Given the description of an element on the screen output the (x, y) to click on. 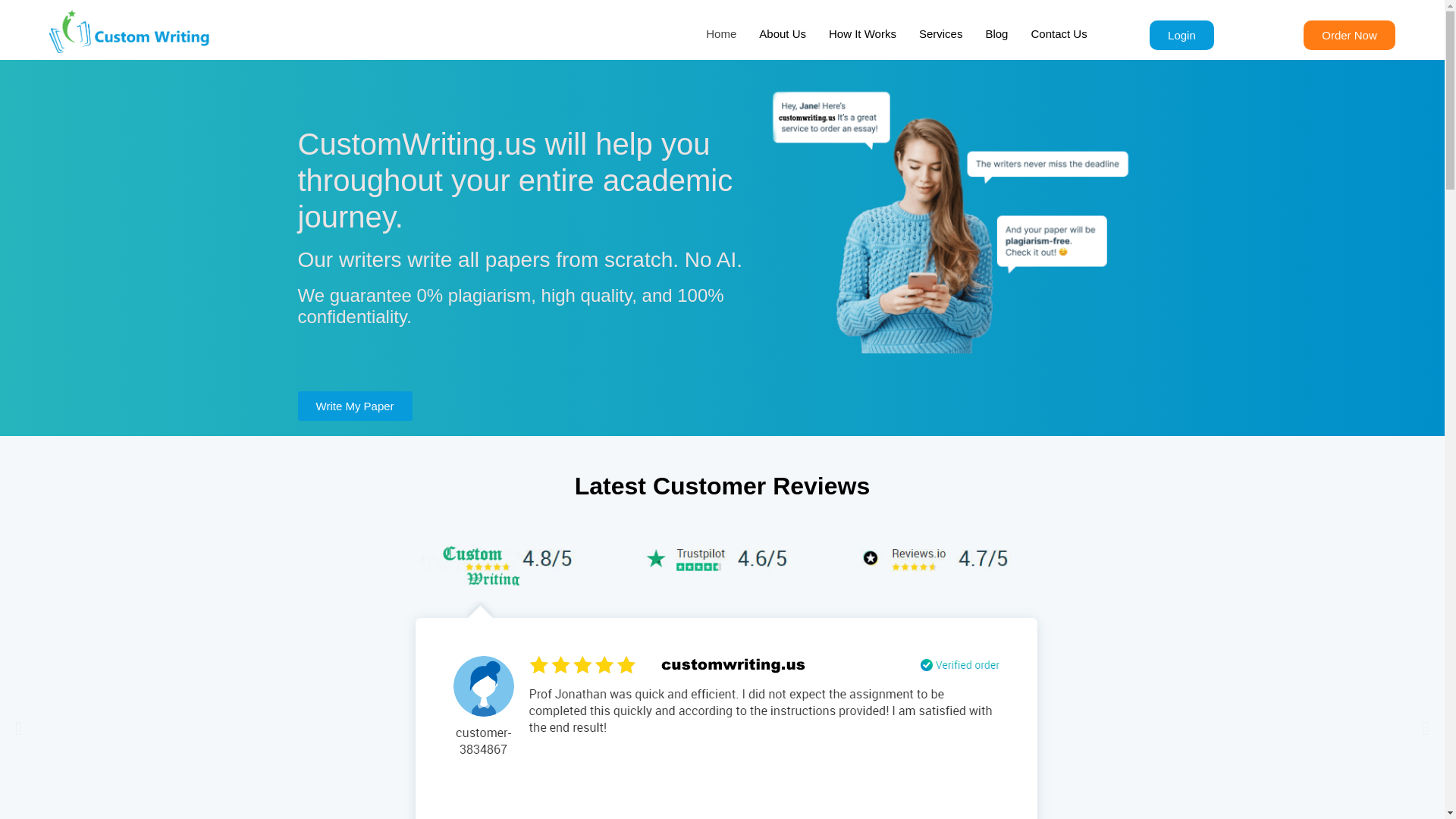
Services (940, 34)
Order Now (1348, 34)
Contact Us (1058, 34)
Write My Paper (354, 405)
Home (721, 34)
How It Works (861, 34)
About Us (782, 34)
Login (1182, 34)
